Given the description of an element on the screen output the (x, y) to click on. 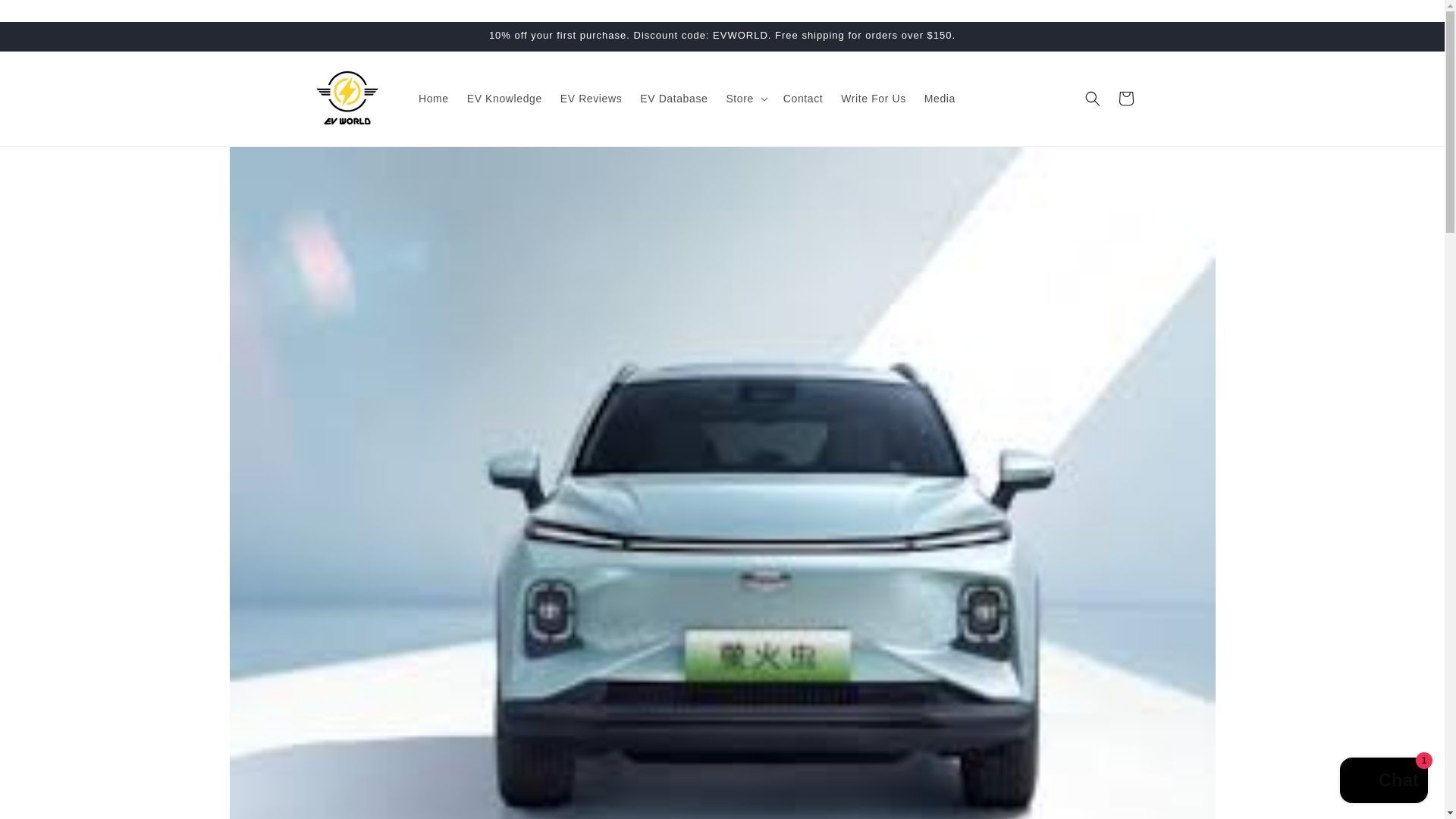
Skip to content (45, 17)
Cart (1124, 98)
EV Database (673, 98)
EV Reviews (590, 98)
Media (939, 98)
EV Knowledge (504, 98)
Contact (802, 98)
Home (433, 98)
Write For Us (873, 98)
Shopify online store chat (1383, 781)
